Given the description of an element on the screen output the (x, y) to click on. 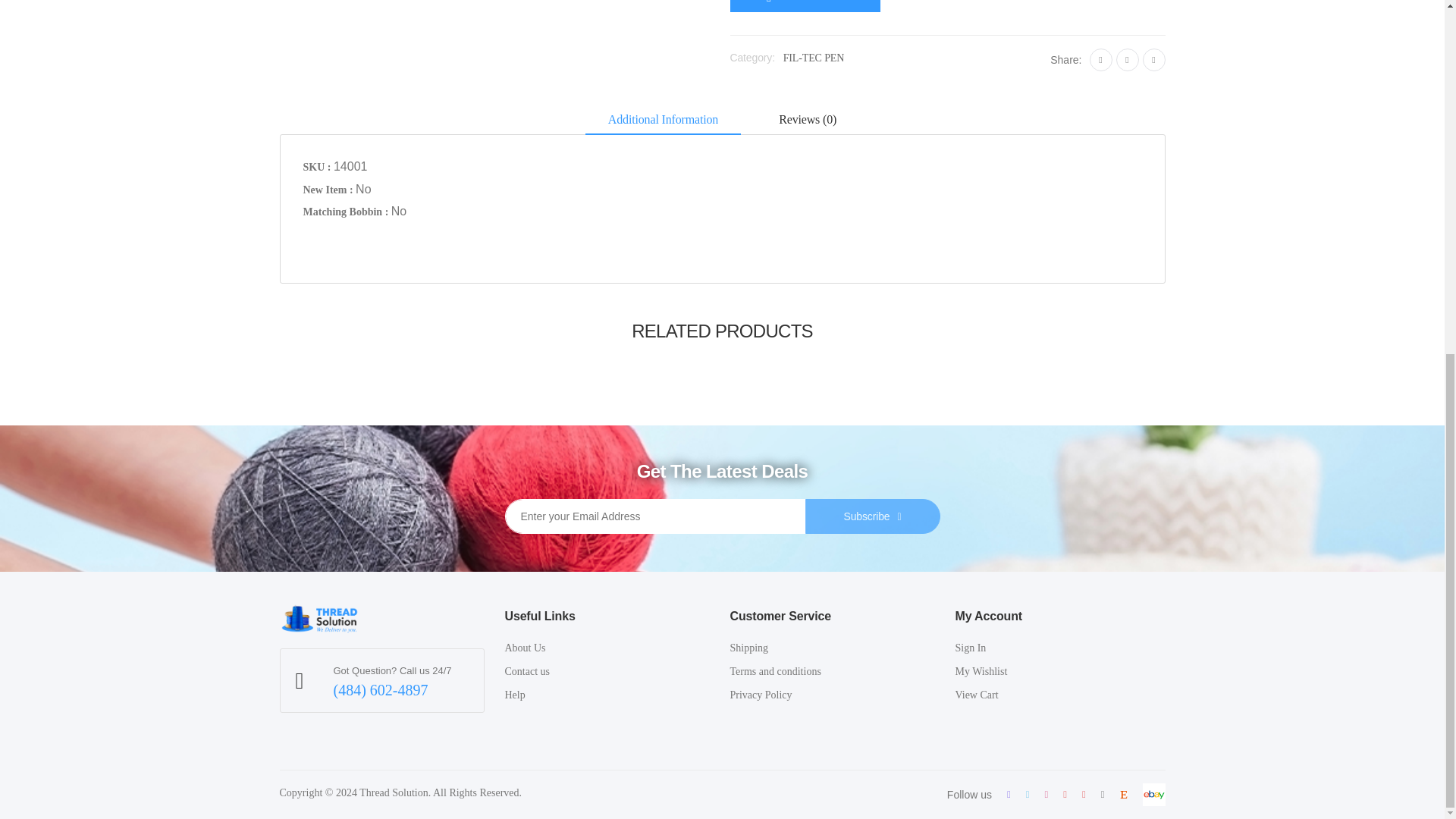
FIL-TEC PEN (813, 57)
Facebook (1100, 59)
Twitter (1127, 59)
ebay (1152, 793)
etsy (1122, 794)
Additional Information (663, 121)
ADD TO CART (804, 6)
Wishlist (915, 2)
